Given the description of an element on the screen output the (x, y) to click on. 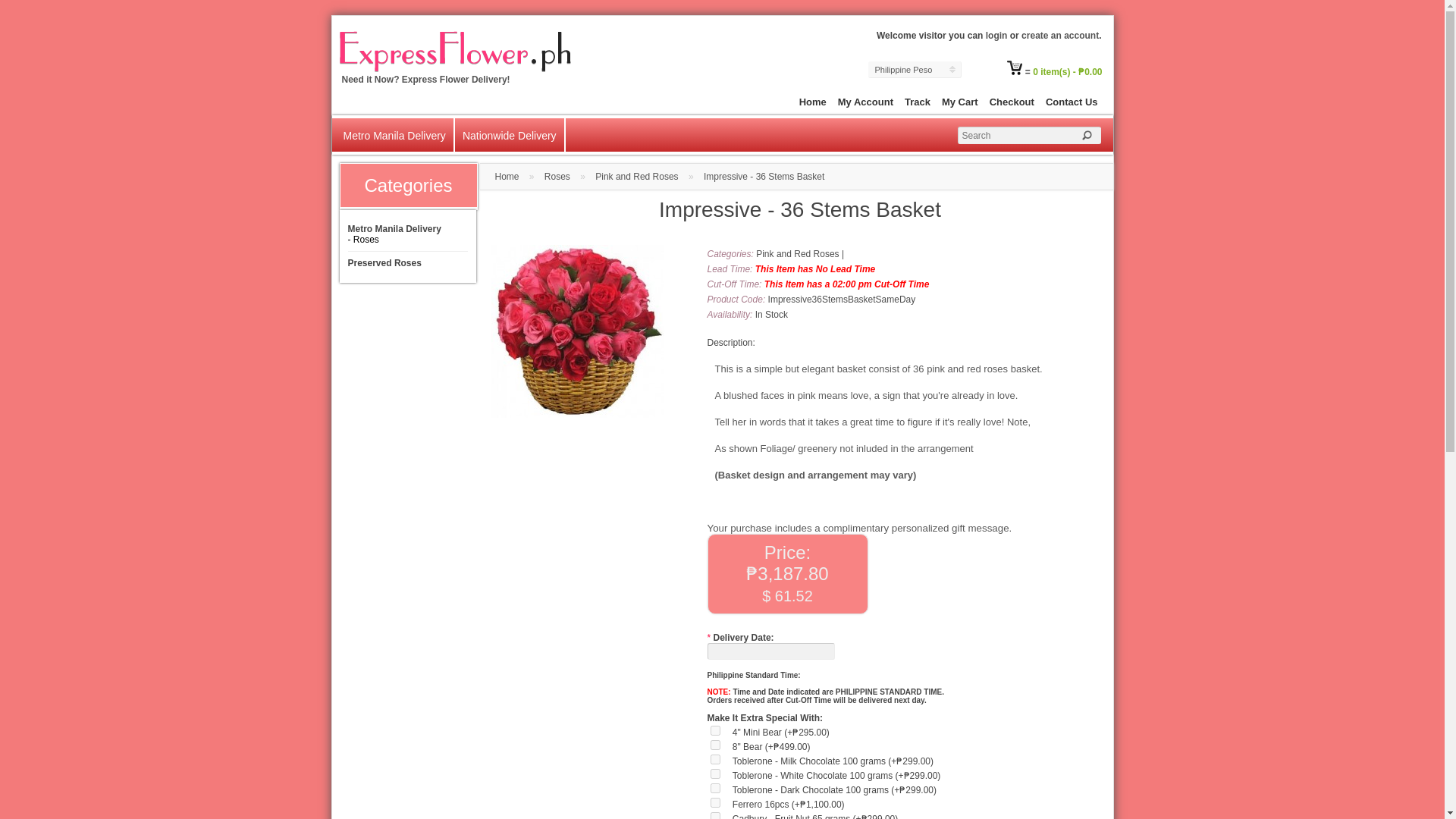
login (996, 35)
Home (810, 101)
10852 (714, 787)
Impressive - 36 Stems Basket (577, 330)
10853 (714, 759)
Checkout (1008, 101)
My Cart (957, 101)
create an account (1060, 35)
ExpressFlower.ph (451, 48)
10848 (714, 745)
My Account (862, 101)
Metro Manila Delivery (393, 129)
Nationwide Delivery (509, 129)
10854 (714, 773)
Track (914, 101)
